Given the description of an element on the screen output the (x, y) to click on. 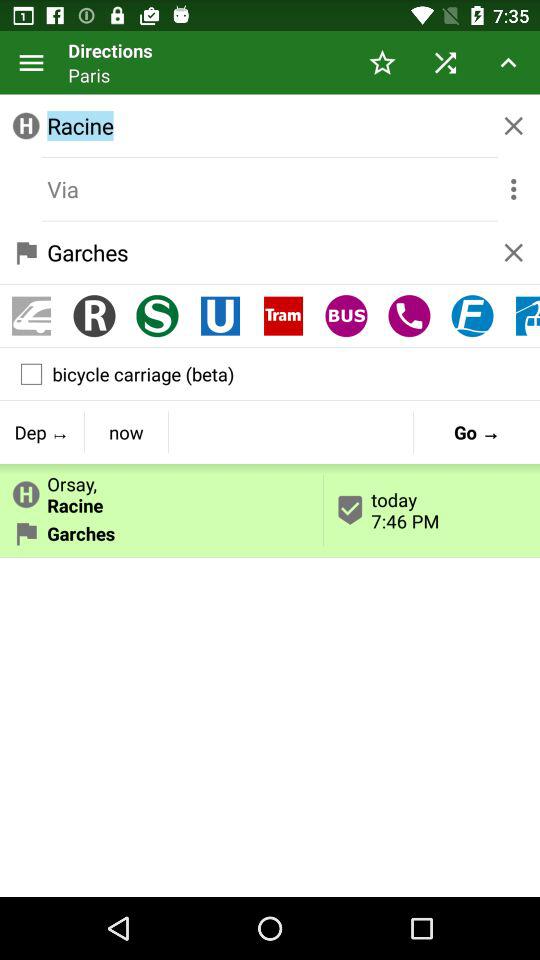
select orsay,
racine item (161, 490)
